Given the description of an element on the screen output the (x, y) to click on. 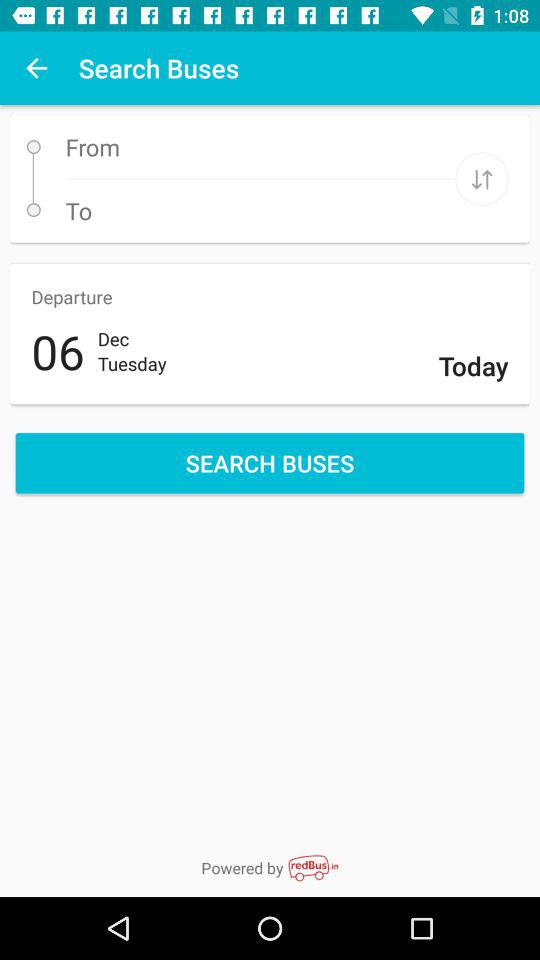
updown button (481, 178)
